Given the description of an element on the screen output the (x, y) to click on. 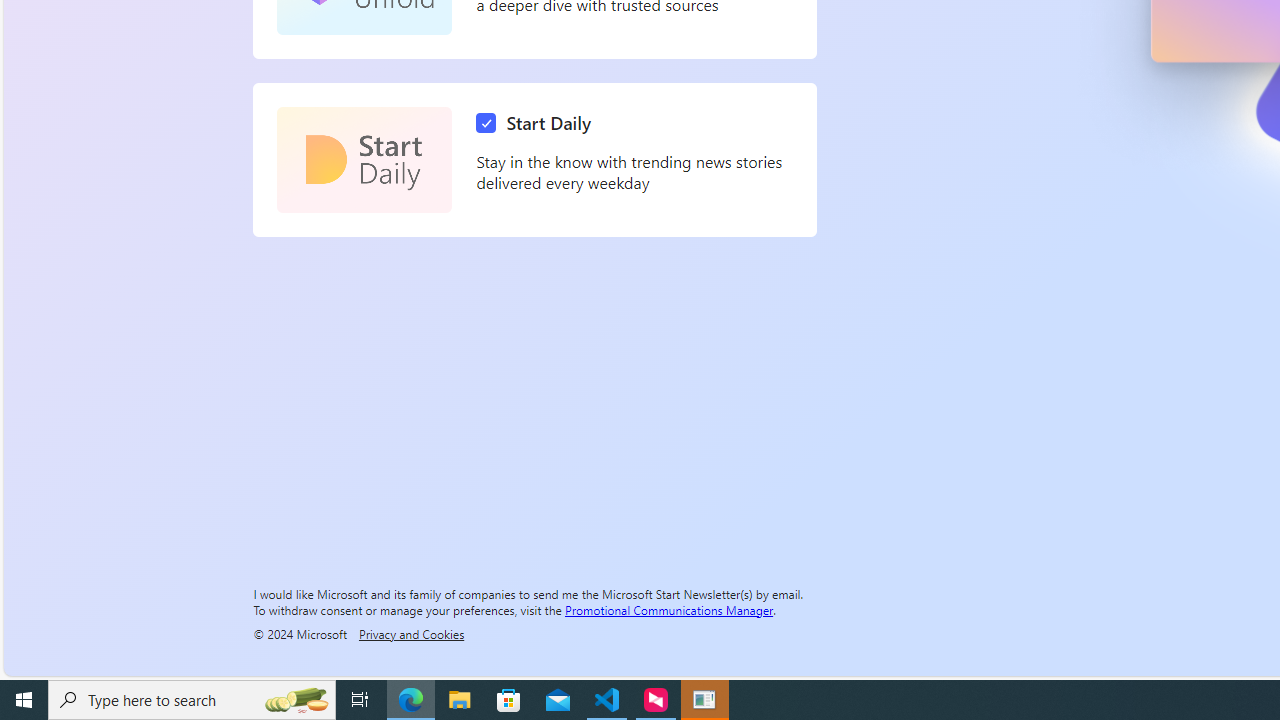
Privacy and Cookies (411, 633)
Start Daily (538, 123)
Start Daily (364, 160)
Promotional Communications Manager (669, 609)
